Given the description of an element on the screen output the (x, y) to click on. 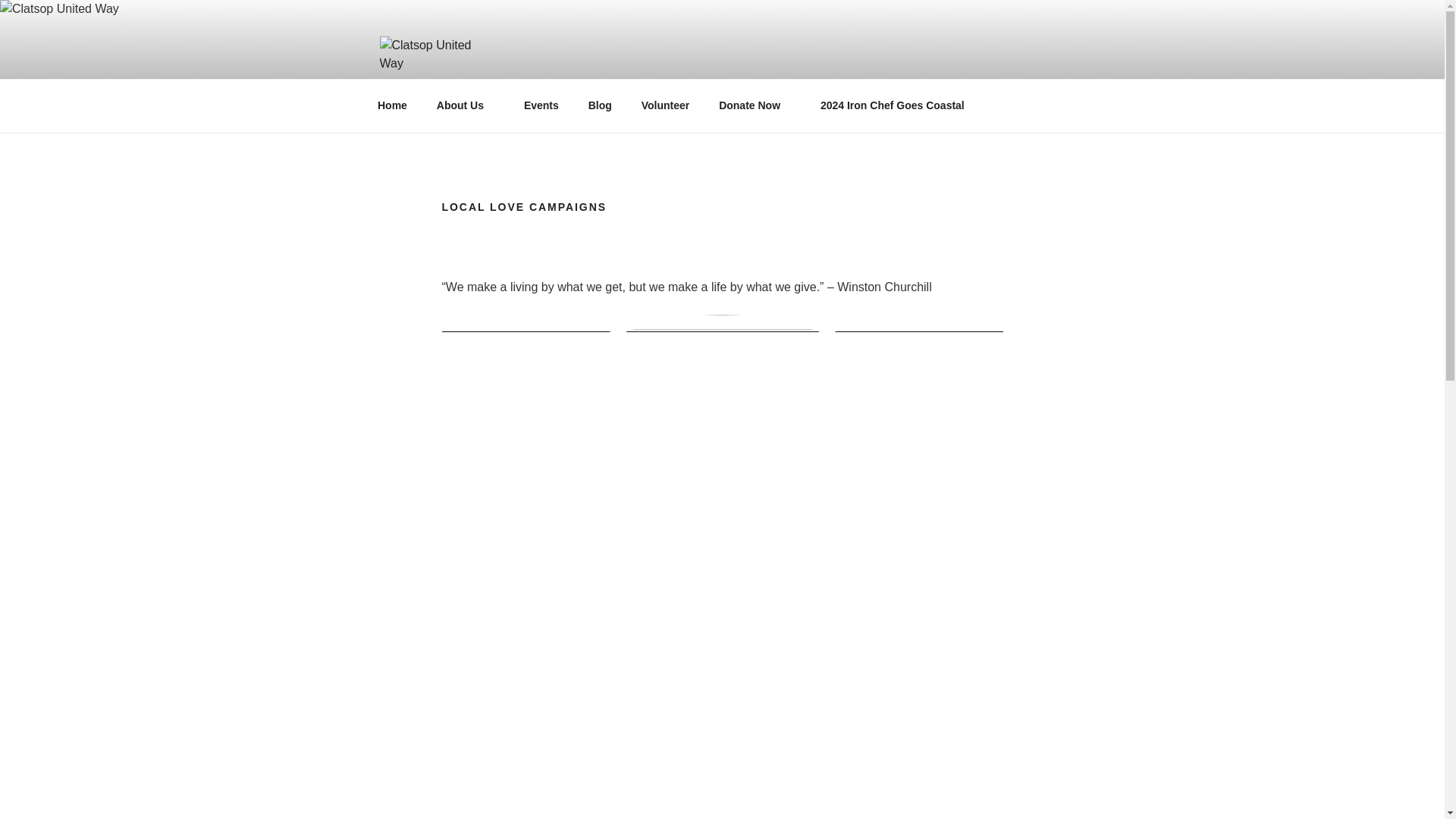
Home (392, 105)
CLATSOP UNITED WAY (550, 113)
Volunteer (665, 105)
Events (541, 105)
Blog (599, 105)
Donate Now (755, 105)
About Us (464, 105)
2024 Iron Chef Goes Coastal (891, 105)
